Given the description of an element on the screen output the (x, y) to click on. 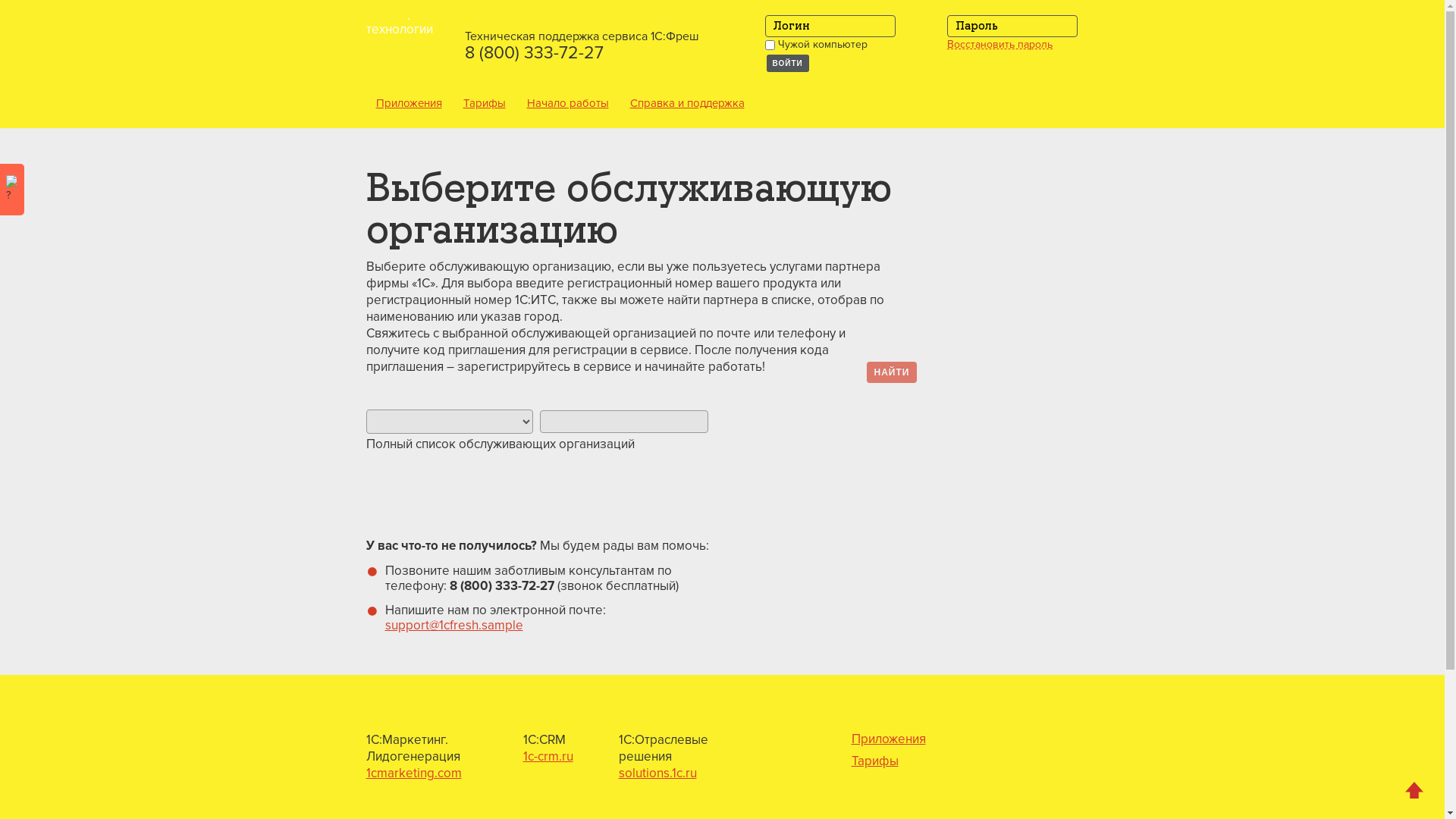
1c-crm.ru Element type: text (548, 756)
1cmarketing.com Element type: text (413, 773)
solutions.1c.ru Element type: text (657, 773)
support@1cfresh.sample Element type: text (454, 625)
